Given the description of an element on the screen output the (x, y) to click on. 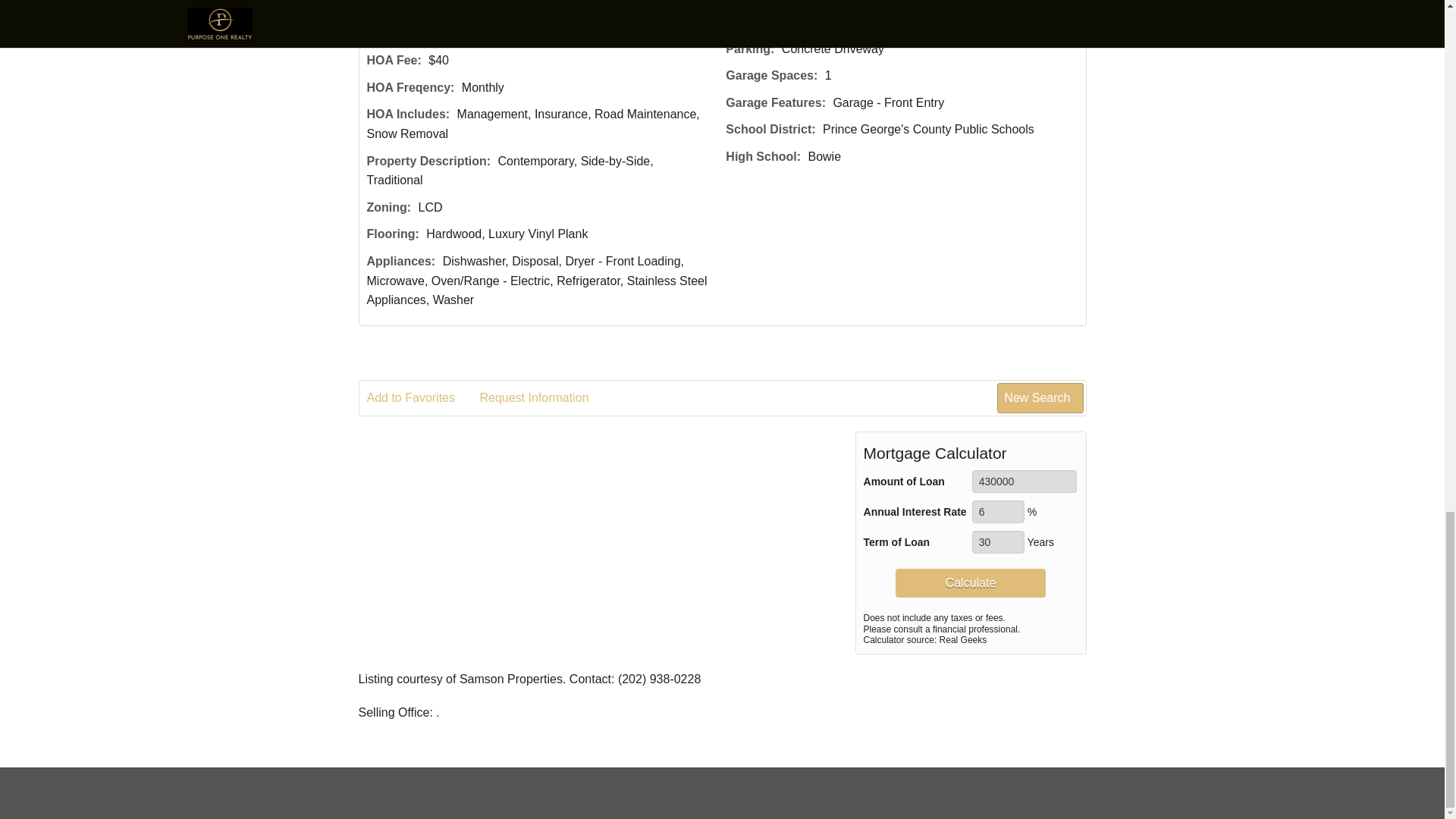
6 (998, 511)
30 (998, 541)
430000 (1024, 481)
